Given the description of an element on the screen output the (x, y) to click on. 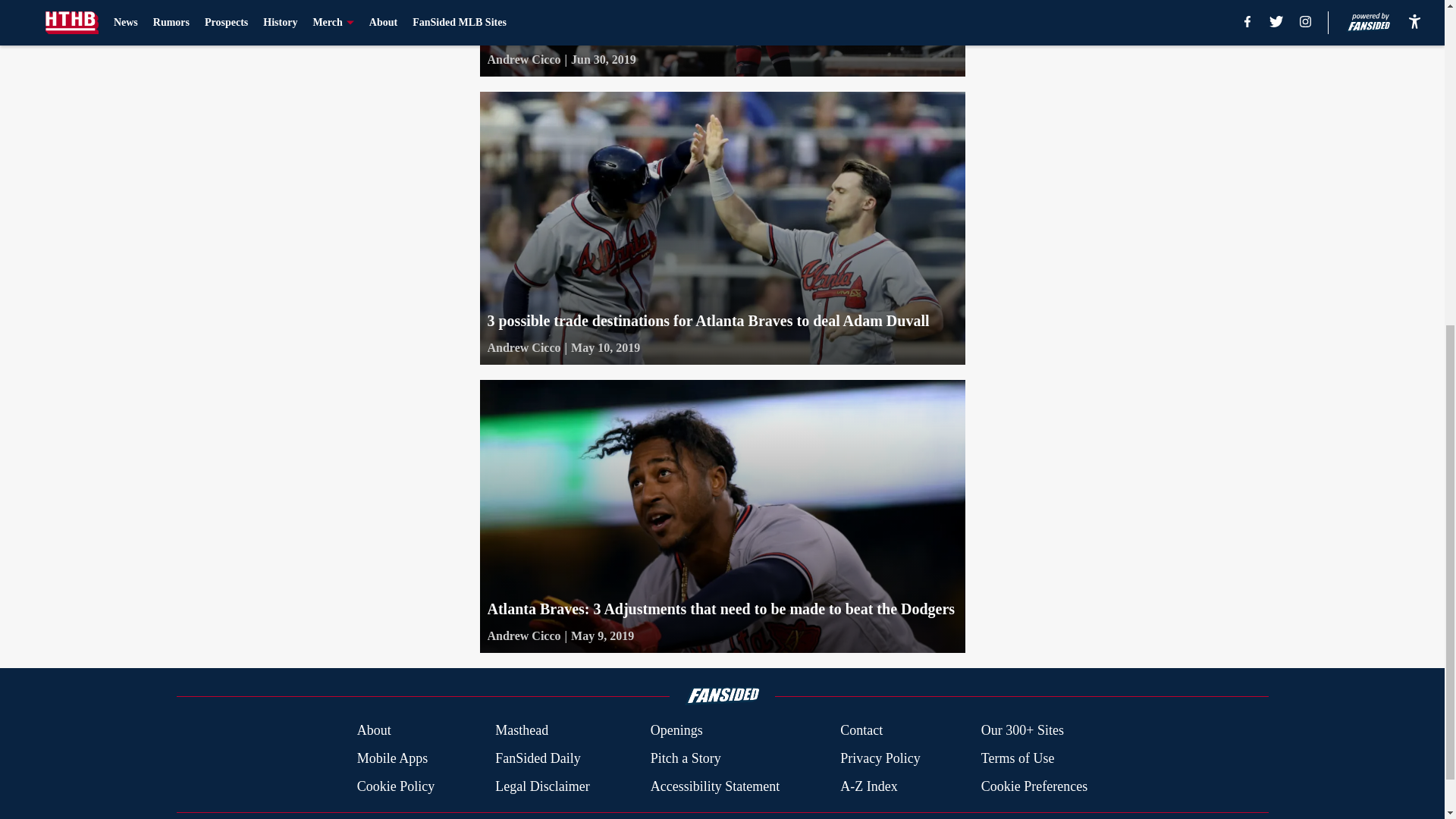
Cookie Preferences (1034, 786)
Privacy Policy (880, 758)
Accessibility Statement (714, 786)
Mobile Apps (392, 758)
Andrew Cicco (523, 636)
Openings (676, 730)
Contact (861, 730)
Cookie Policy (395, 786)
Pitch a Story (685, 758)
Legal Disclaimer (542, 786)
Andrew Cicco (523, 348)
Terms of Use (1017, 758)
